Given the description of an element on the screen output the (x, y) to click on. 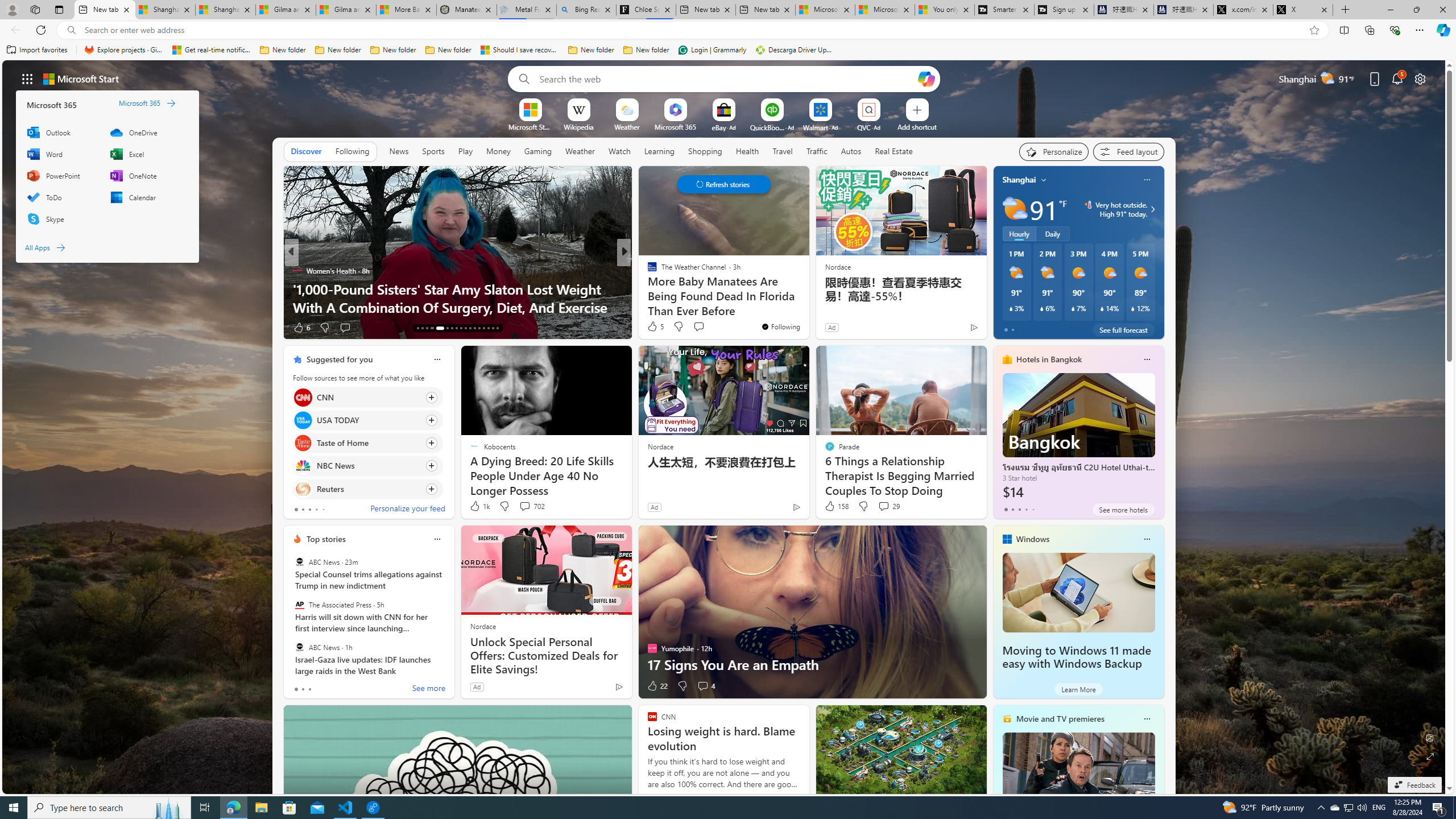
View comments 42 Comment (6, 327)
previous (998, 252)
View comments 58 Comment (6, 327)
Search icon (70, 29)
Class: control (723, 184)
CNN (302, 397)
To Do (61, 197)
